Given the description of an element on the screen output the (x, y) to click on. 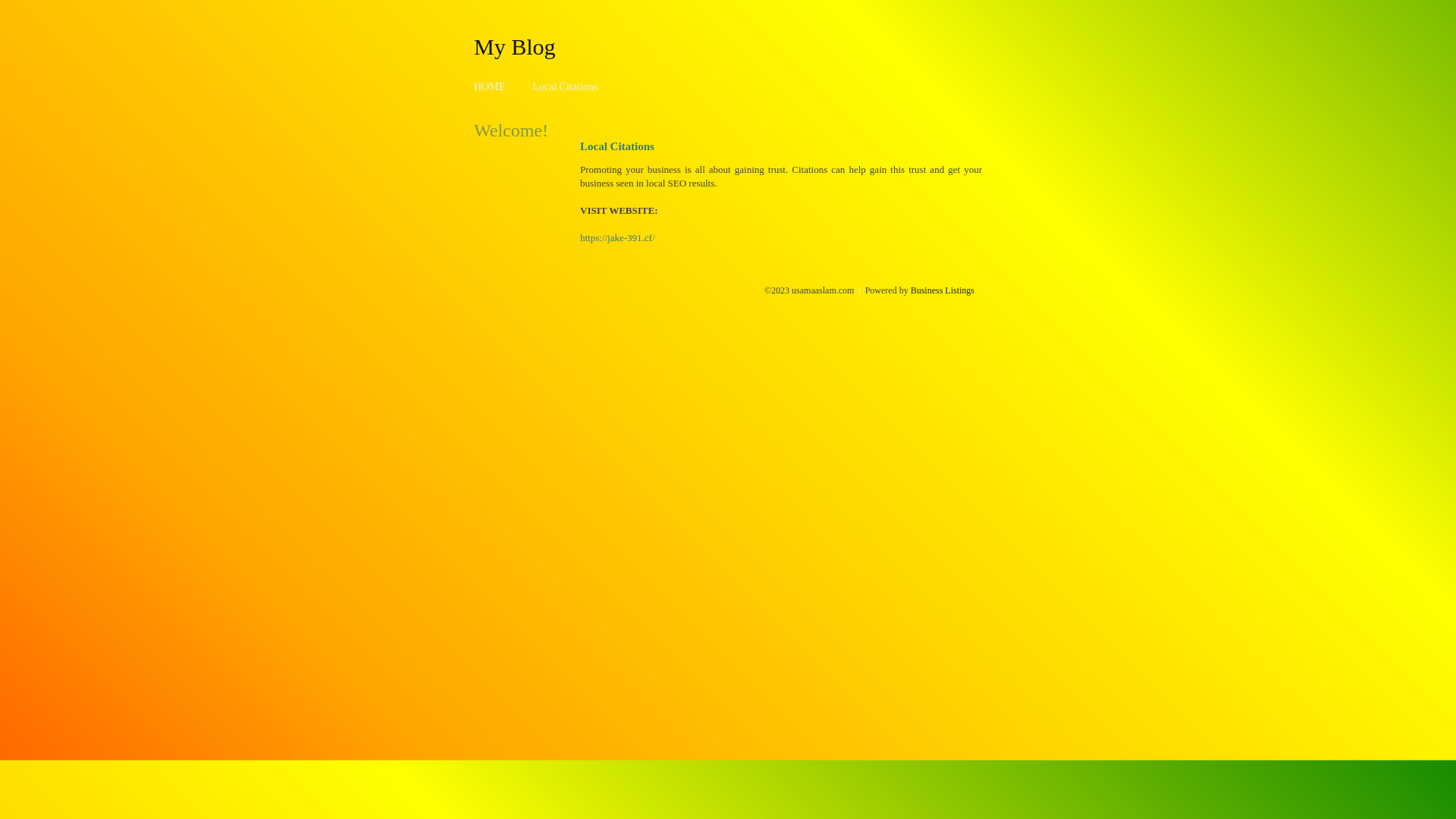
Business Listings Element type: text (942, 290)
My Blog Element type: text (514, 46)
Local Citations Element type: text (564, 86)
HOME Element type: text (489, 86)
https://jake-391.cf/ Element type: text (617, 237)
